Given the description of an element on the screen output the (x, y) to click on. 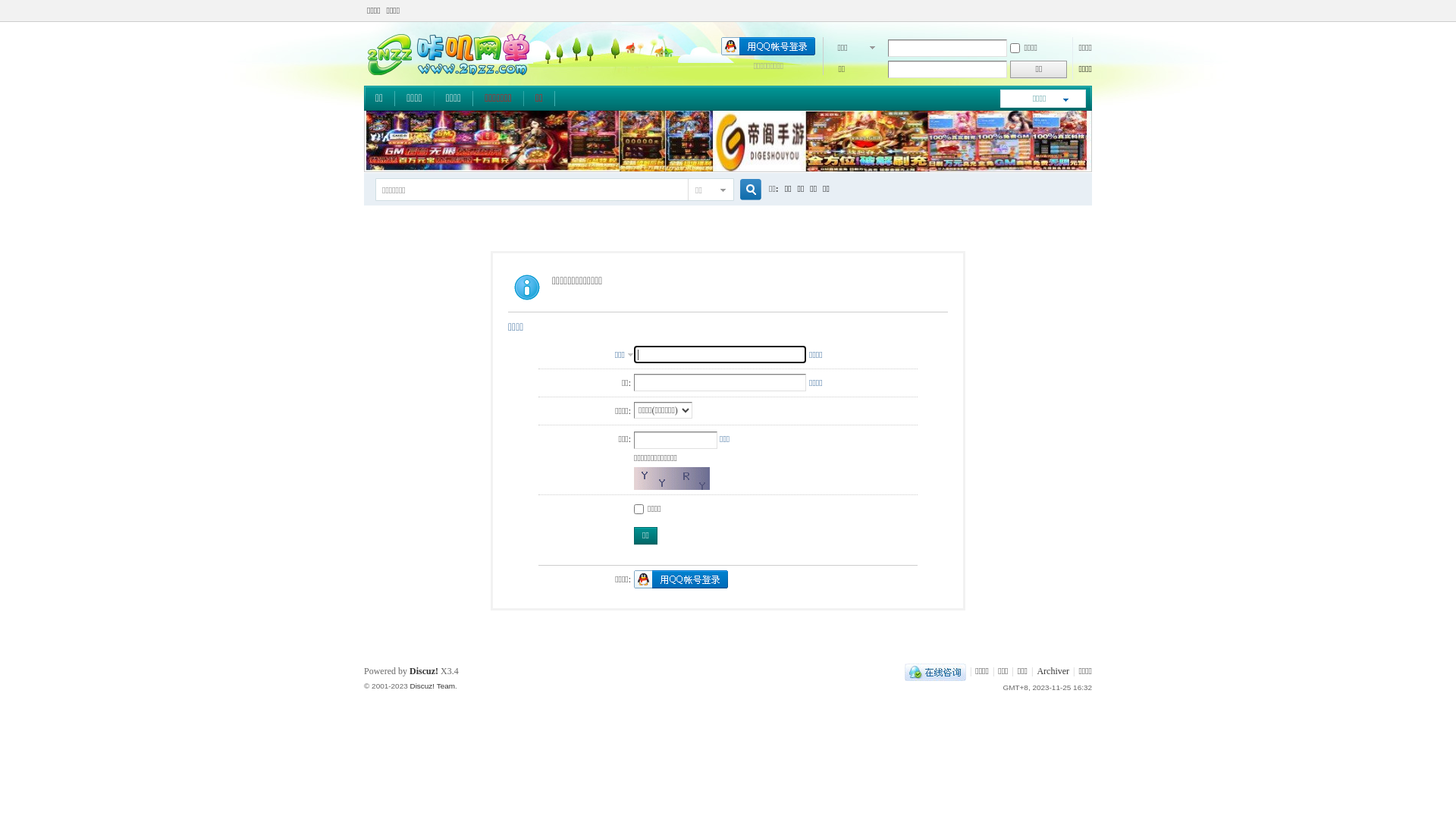
Discuz! Team Element type: text (432, 685)
true Element type: text (745, 189)
Archiver Element type: text (1052, 670)
QQ Element type: hover (935, 670)
Discuz! Element type: text (423, 670)
